Given the description of an element on the screen output the (x, y) to click on. 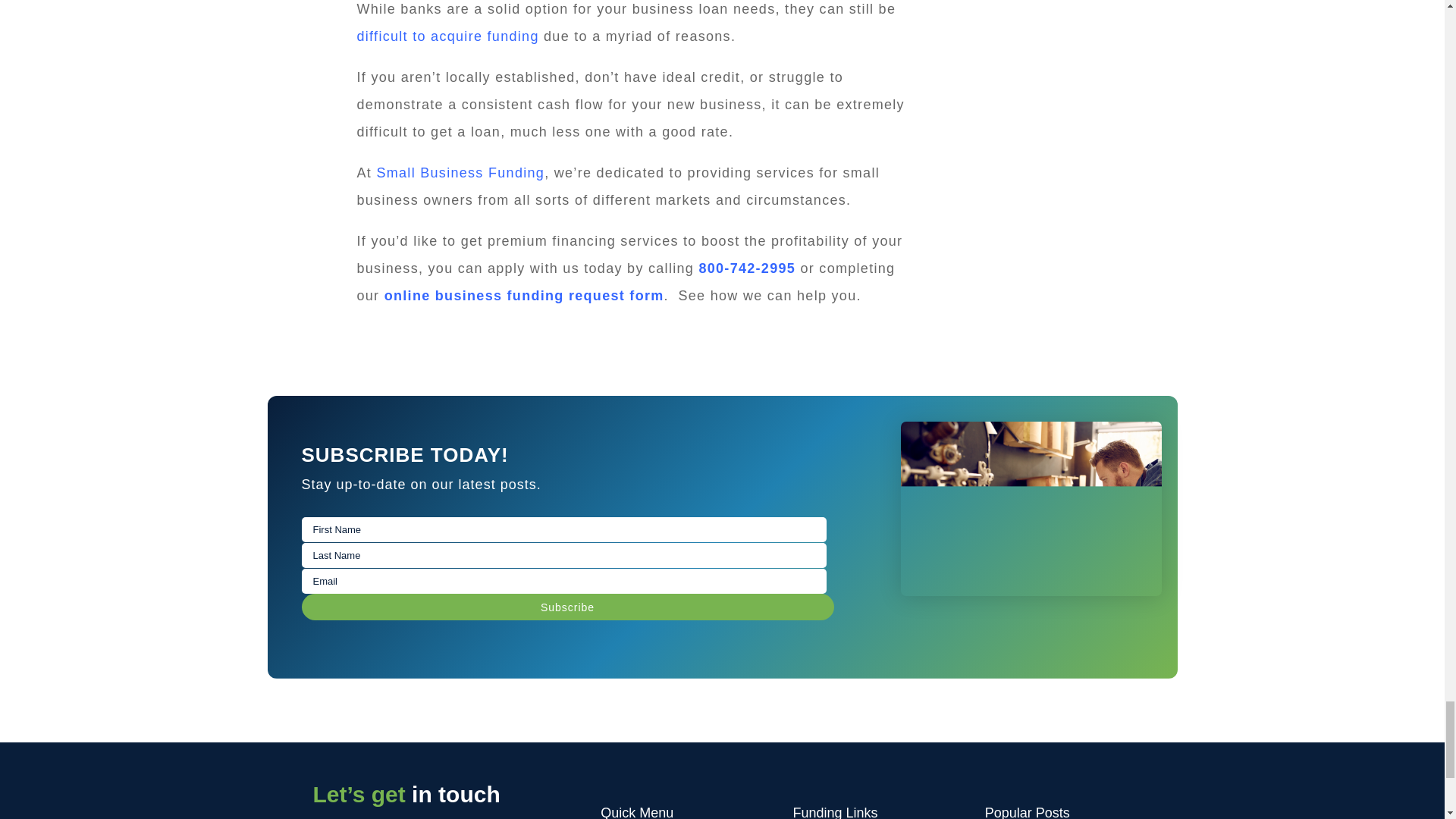
online business funding request form (523, 295)
Small Business Funding (459, 172)
difficult to acquire funding (447, 36)
smb owner male 2 (1031, 508)
Subscribe (567, 606)
